Given the description of an element on the screen output the (x, y) to click on. 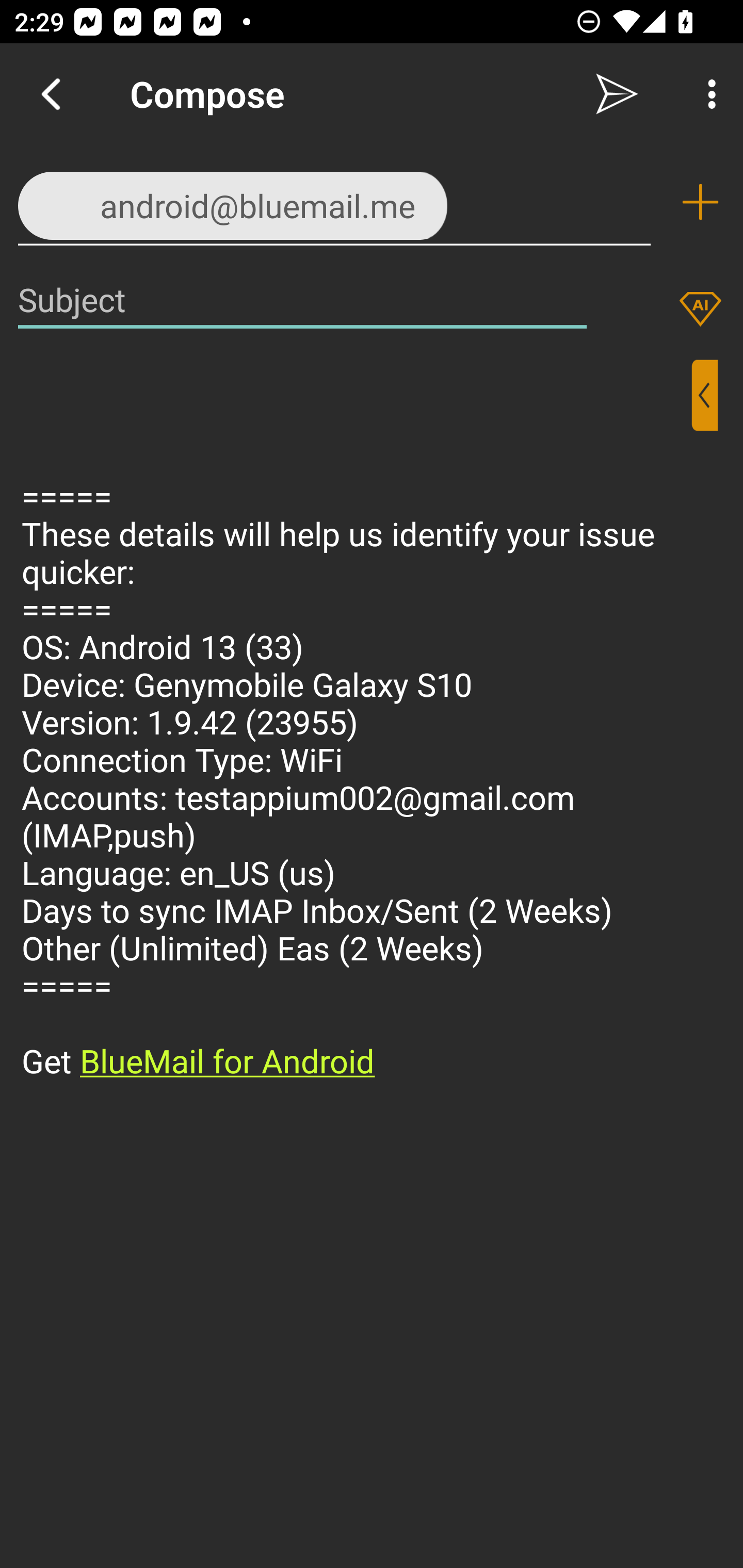
Navigate up (50, 93)
Send (616, 93)
More Options (706, 93)
<android@bluemail.me>,  (334, 201)
Add recipient (To) (699, 201)
Subject (302, 299)
